Given the description of an element on the screen output the (x, y) to click on. 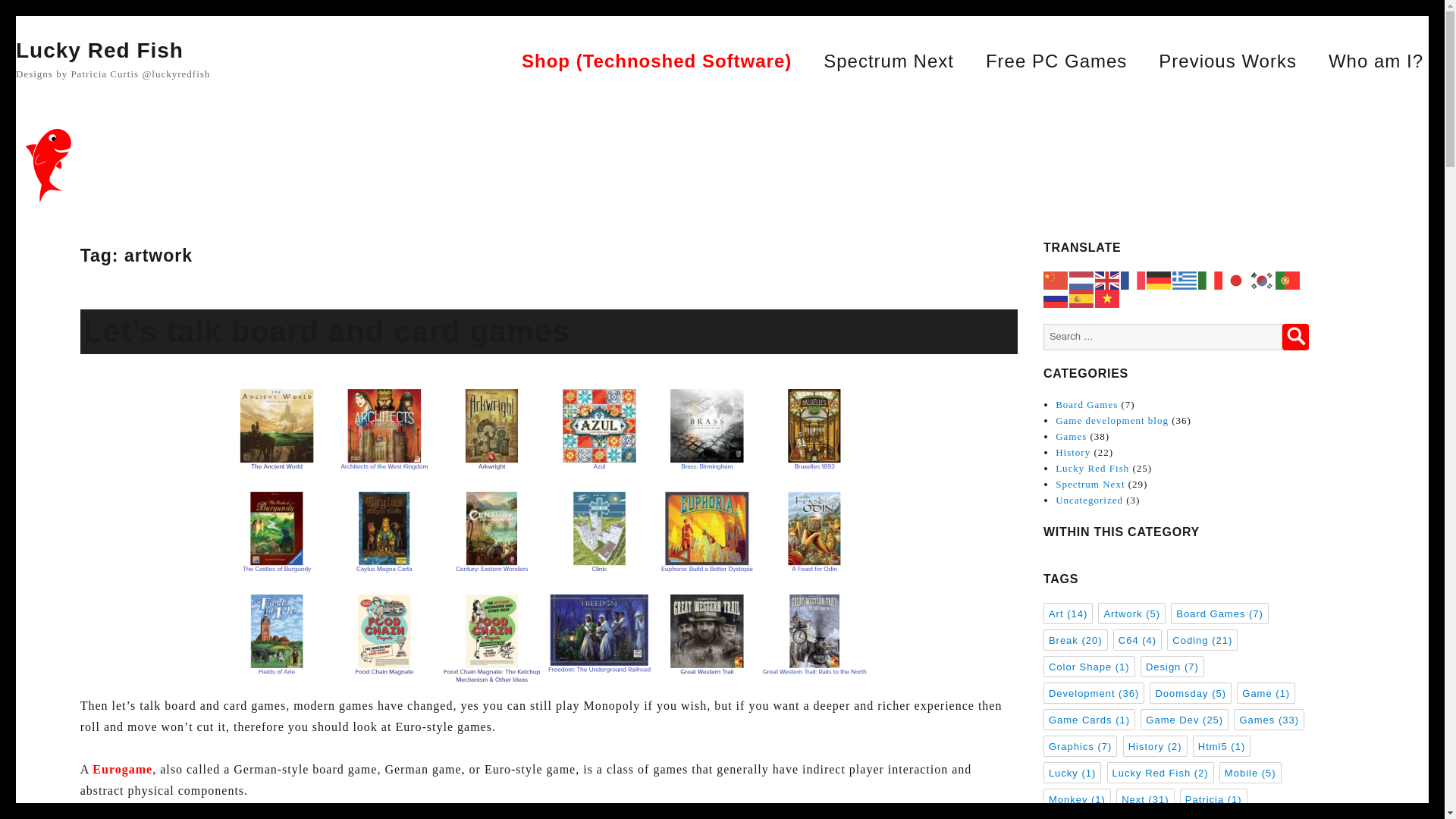
Who am I? (1376, 60)
Portuguese (1288, 279)
Japanese (1236, 279)
English (1107, 279)
Free PC Games (1055, 60)
Russian (1055, 297)
Italian (1211, 279)
Lucky Red Fish (99, 50)
Spanish (1081, 297)
Spectrum Next (888, 60)
Dutch (1081, 279)
Previous Works (1227, 60)
German (1159, 279)
Greek (1185, 279)
Vietnamese (1107, 297)
